Given the description of an element on the screen output the (x, y) to click on. 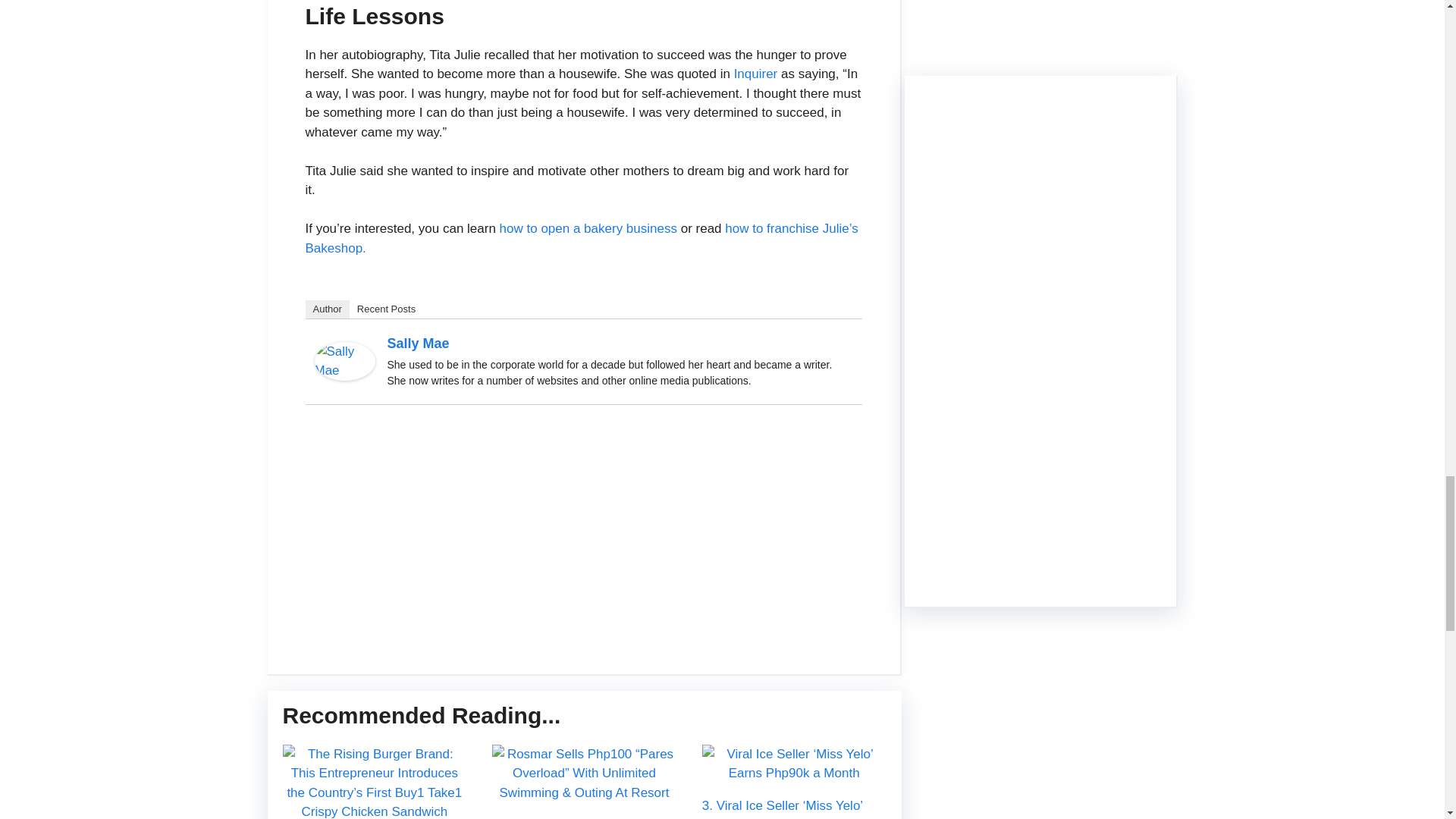
Sally Mae (417, 343)
Sally Mae (344, 376)
Author (326, 309)
Recent Posts (386, 309)
how to open a bakery business (588, 228)
Inquirer (755, 73)
